Given the description of an element on the screen output the (x, y) to click on. 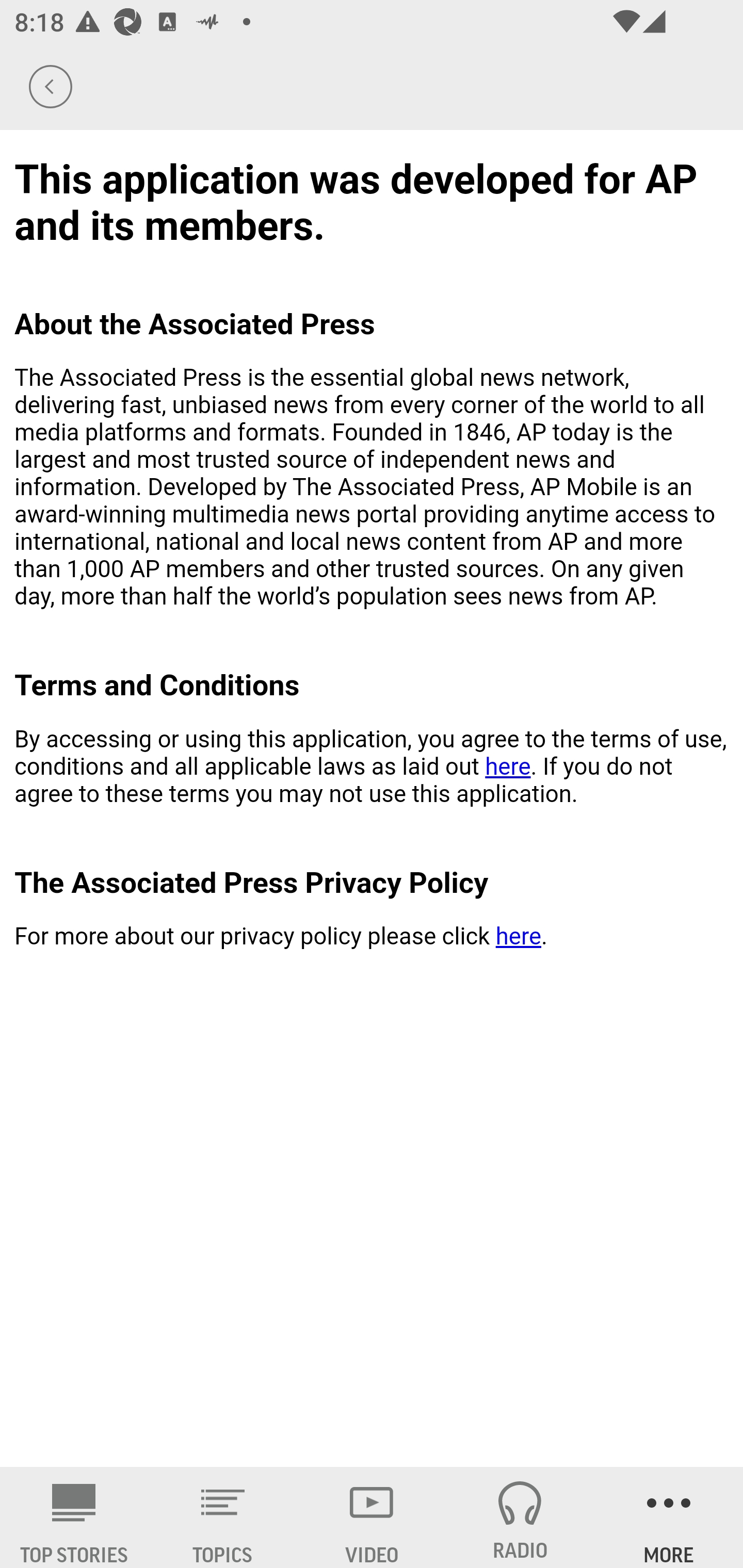
AP News TOP STORIES (74, 1517)
TOPICS (222, 1517)
VIDEO (371, 1517)
RADIO (519, 1517)
MORE (668, 1517)
